Given the description of an element on the screen output the (x, y) to click on. 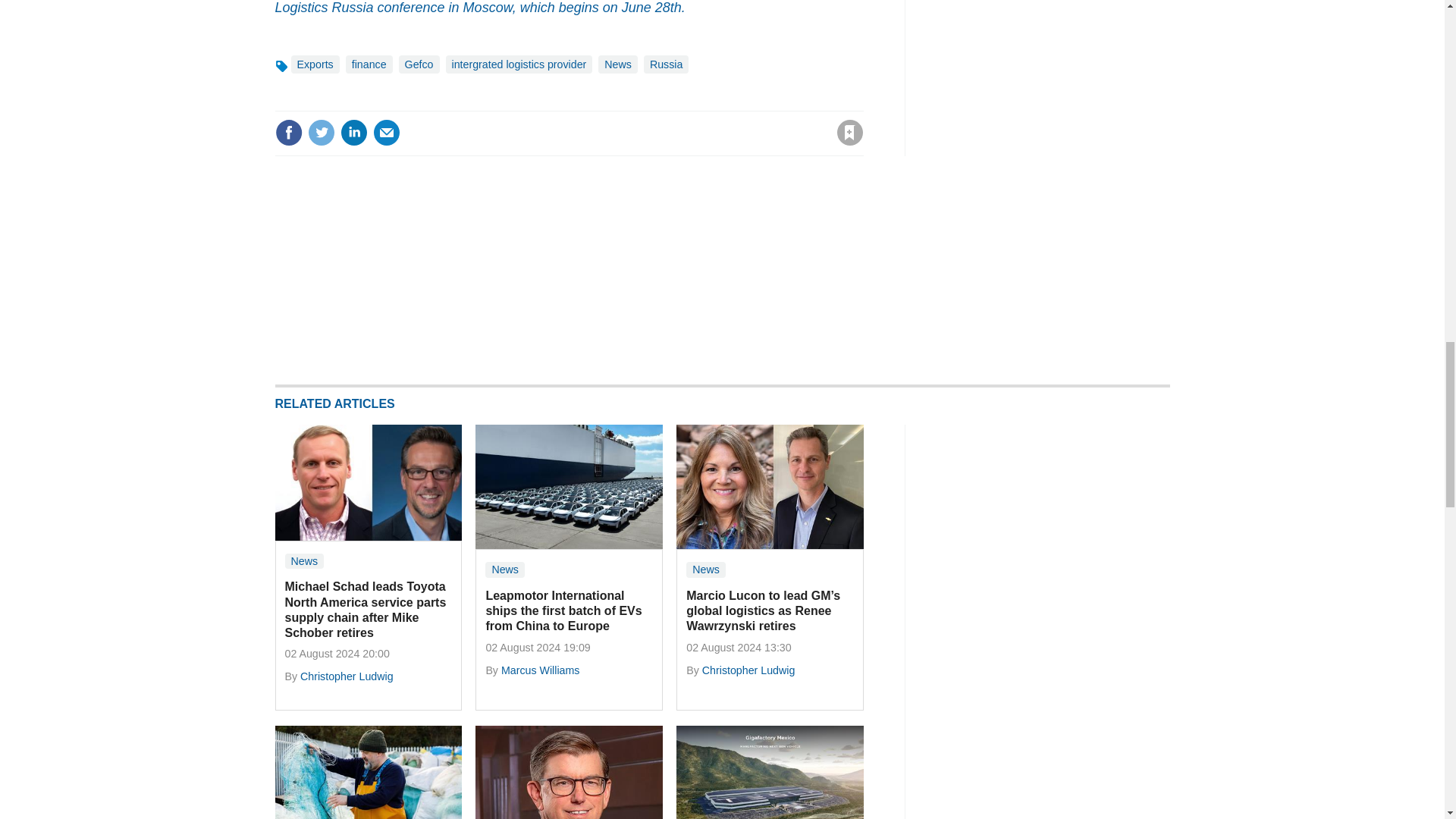
Share this on Twitter (320, 132)
3rd party ad content (1055, 519)
Share this on Linked in (352, 132)
Share this on Facebook (288, 132)
Email this article (386, 132)
